Given the description of an element on the screen output the (x, y) to click on. 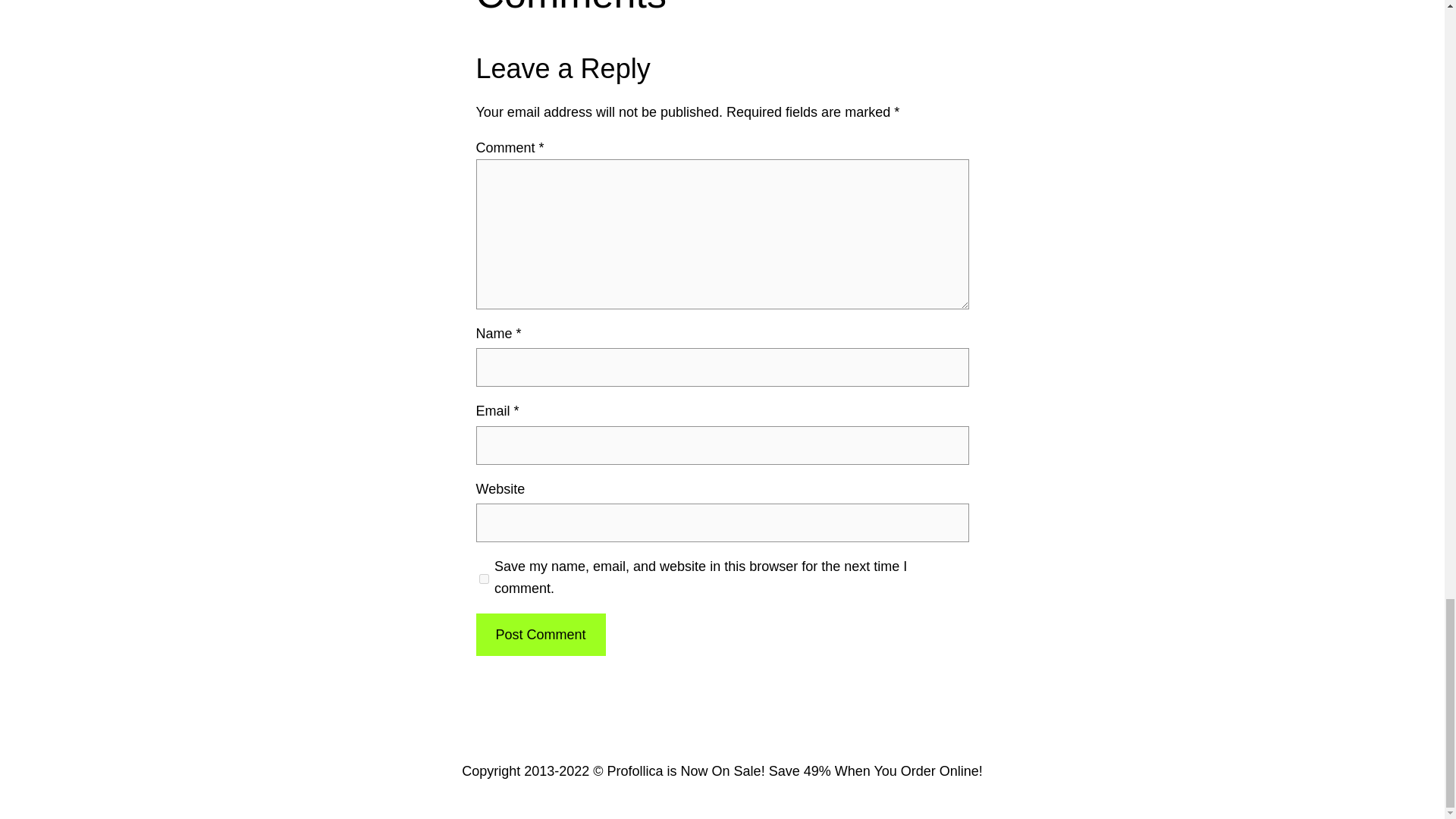
Post Comment (540, 634)
yes (484, 578)
Post Comment (540, 634)
